Given the description of an element on the screen output the (x, y) to click on. 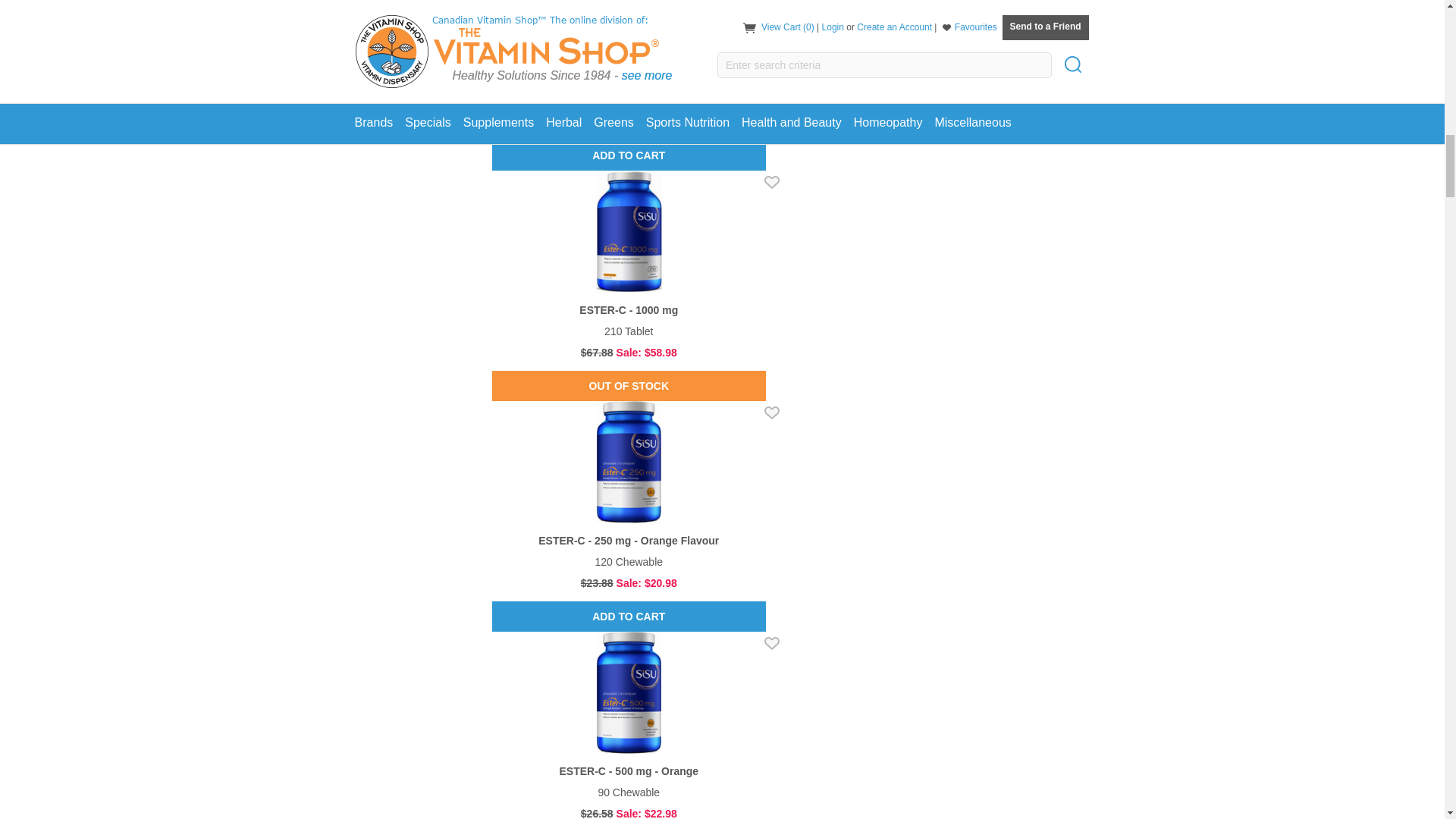
Add to Favourites (771, 412)
Add to Favourites (771, 182)
Add to Favourites (771, 643)
